Given the description of an element on the screen output the (x, y) to click on. 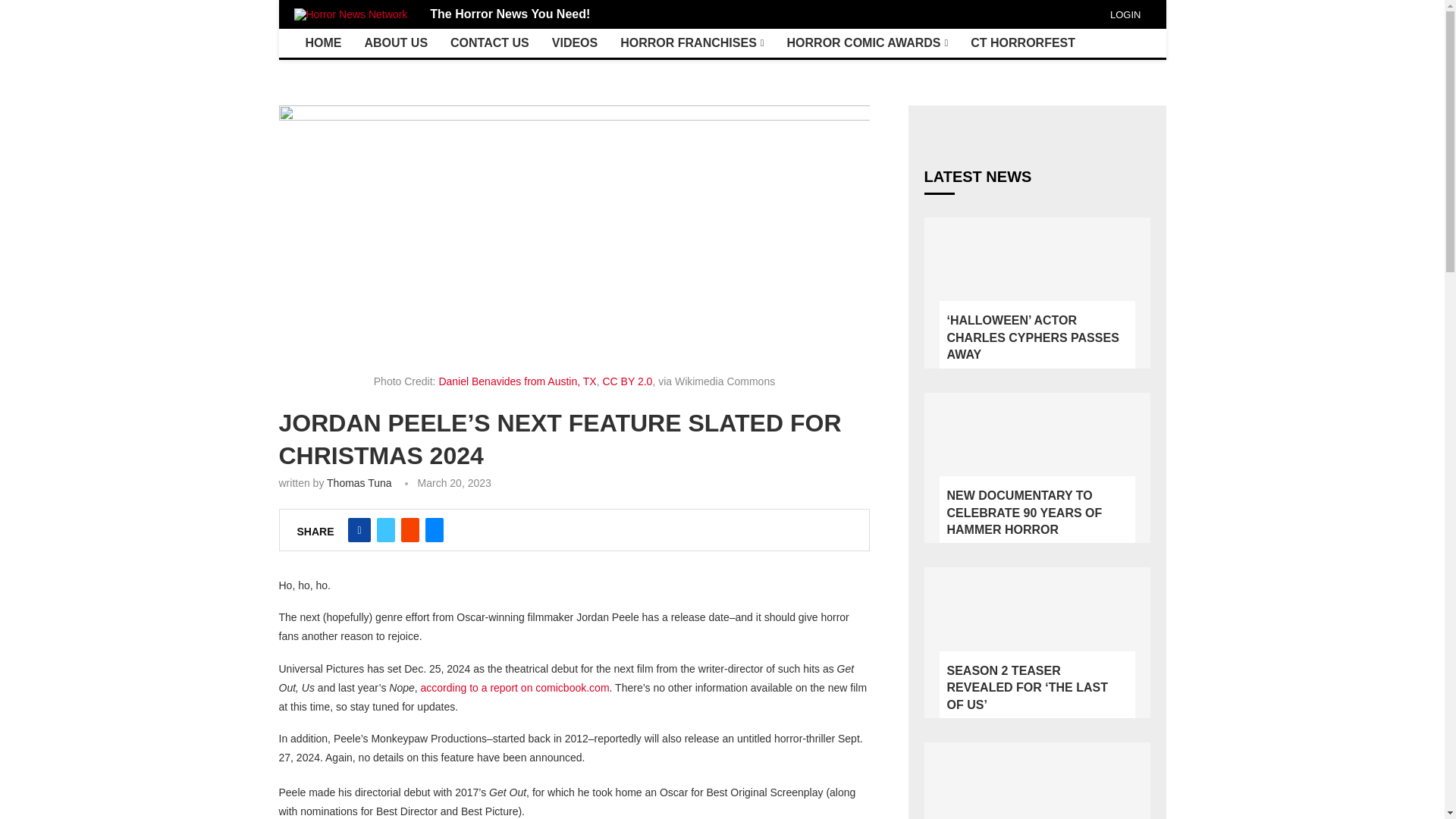
The Horror News You Need! (509, 13)
HOME (323, 42)
ABOUT US (396, 42)
CONTACT US (489, 42)
HORROR FRANCHISES (691, 42)
LOGIN (1123, 14)
VIDEOS (574, 42)
New Documentary to Celebrate 90 years of Hammer Horror (1036, 468)
